Given the description of an element on the screen output the (x, y) to click on. 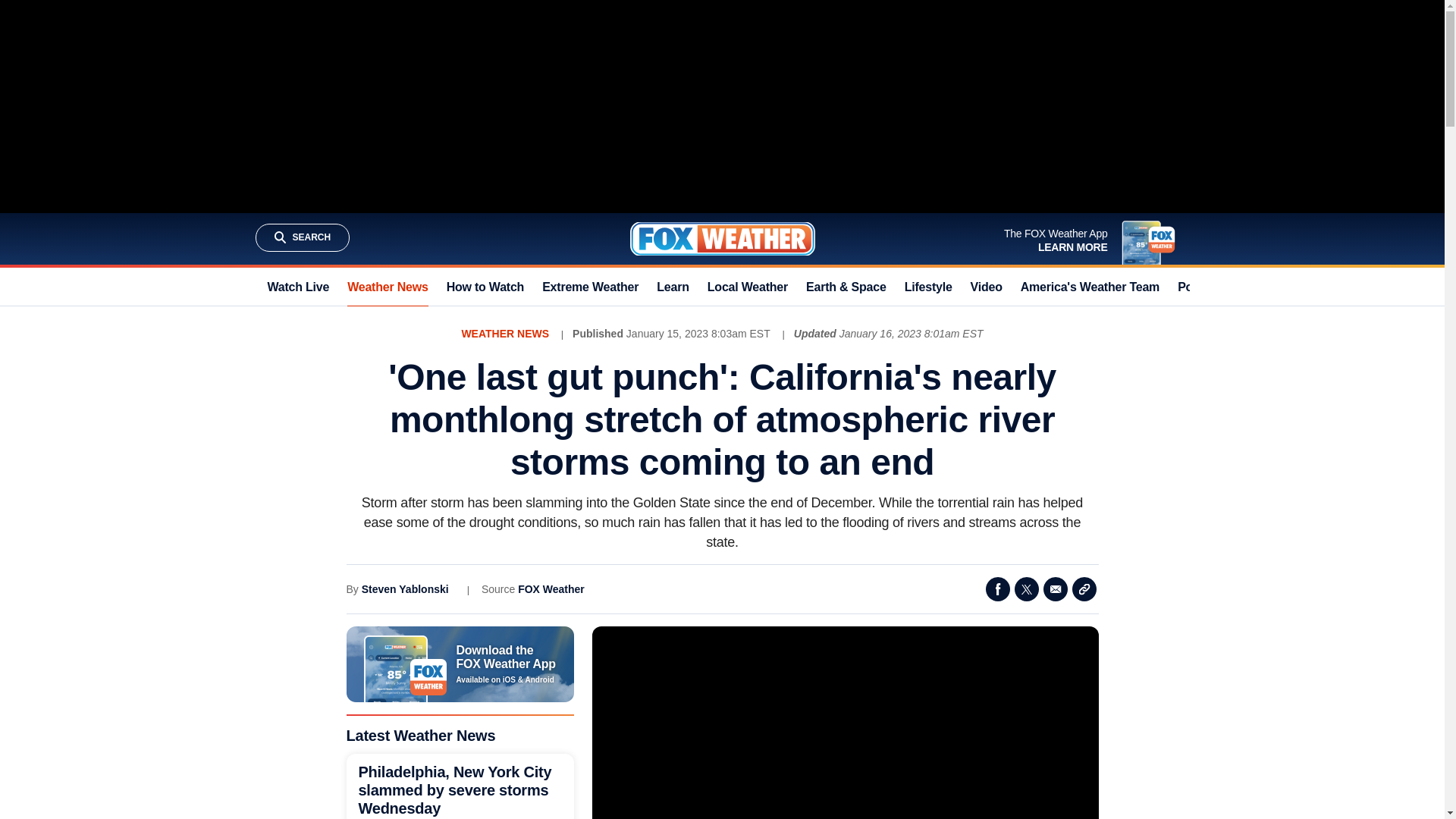
Extreme Weather (590, 286)
Lifestyle (928, 286)
America's Weather Team (1089, 286)
Watch Live (297, 286)
Steven Yablonski (404, 589)
WEATHER NEWS (504, 333)
How to Watch (485, 286)
Weather News (387, 286)
Facebook (997, 589)
SEARCH (302, 237)
Fox Weather (720, 238)
Twitter (1026, 589)
Email (1055, 589)
Local Weather (747, 286)
Podcast (1200, 286)
